Given the description of an element on the screen output the (x, y) to click on. 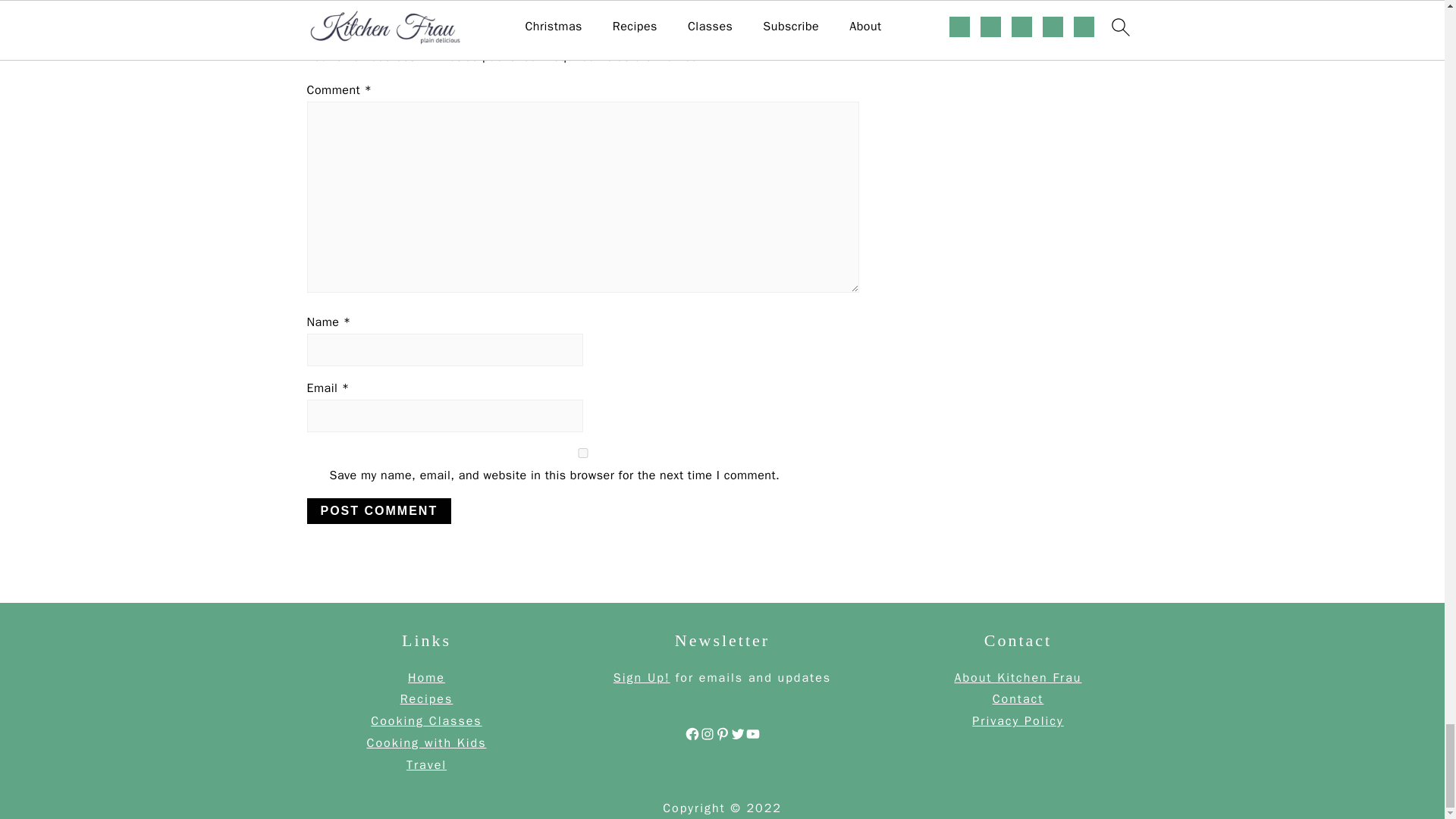
yes (582, 452)
Post Comment (378, 510)
